Given the description of an element on the screen output the (x, y) to click on. 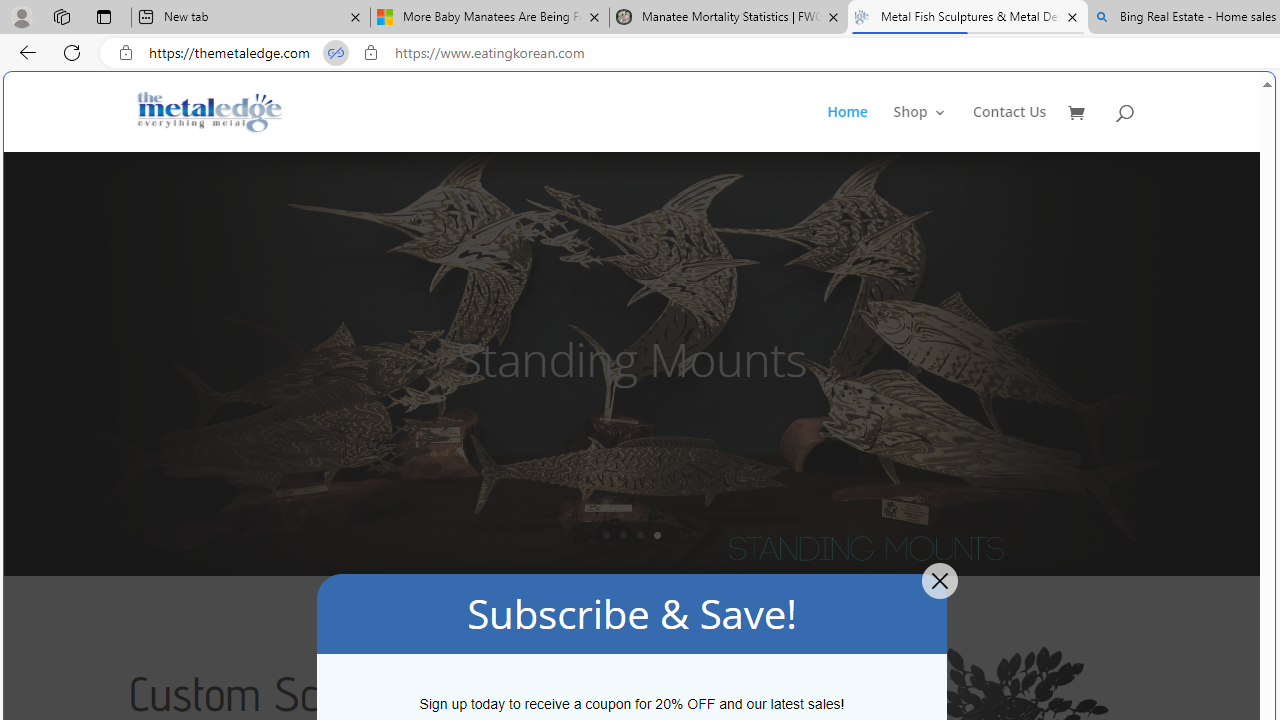
Home (846, 128)
1 (606, 535)
Shop3 (931, 128)
Metal Fish Sculptures & Metal Designs (210, 111)
3 (640, 535)
Shop 3 (920, 128)
Contact Us (1009, 128)
Home (857, 128)
